Given the description of an element on the screen output the (x, y) to click on. 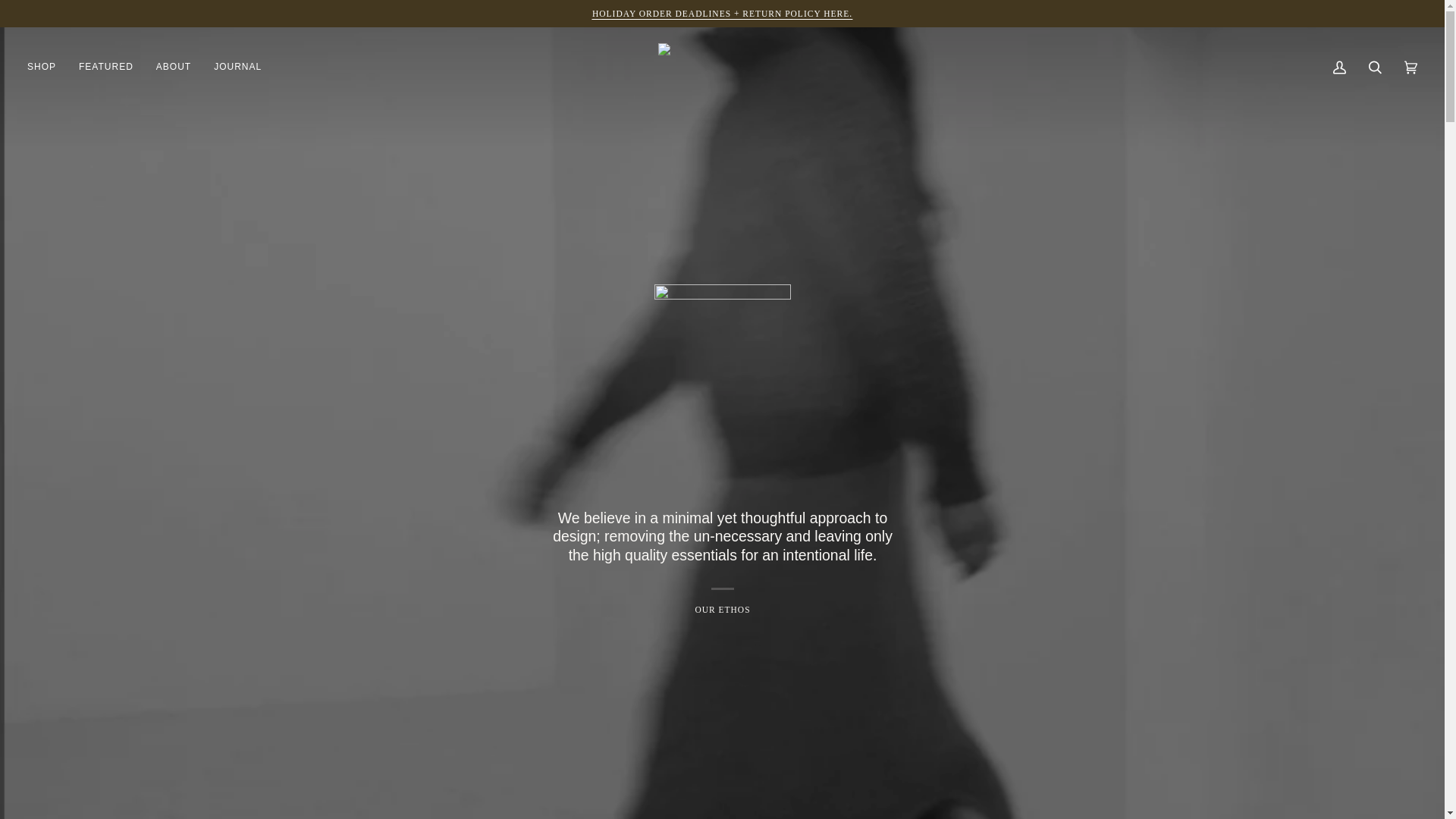
SEARCH Element type: text (1375, 67)
JOURNAL Element type: text (237, 67)
HOLIDAY ORDER DEADLINES + RETURN POLICY HERE. Element type: text (722, 13)
MY ACCOUNT Element type: text (1339, 67)
CART
(0) Element type: text (1410, 67)
SHOP Element type: text (47, 67)
FEATURED Element type: text (105, 67)
ABOUT Element type: text (173, 67)
